Given the description of an element on the screen output the (x, y) to click on. 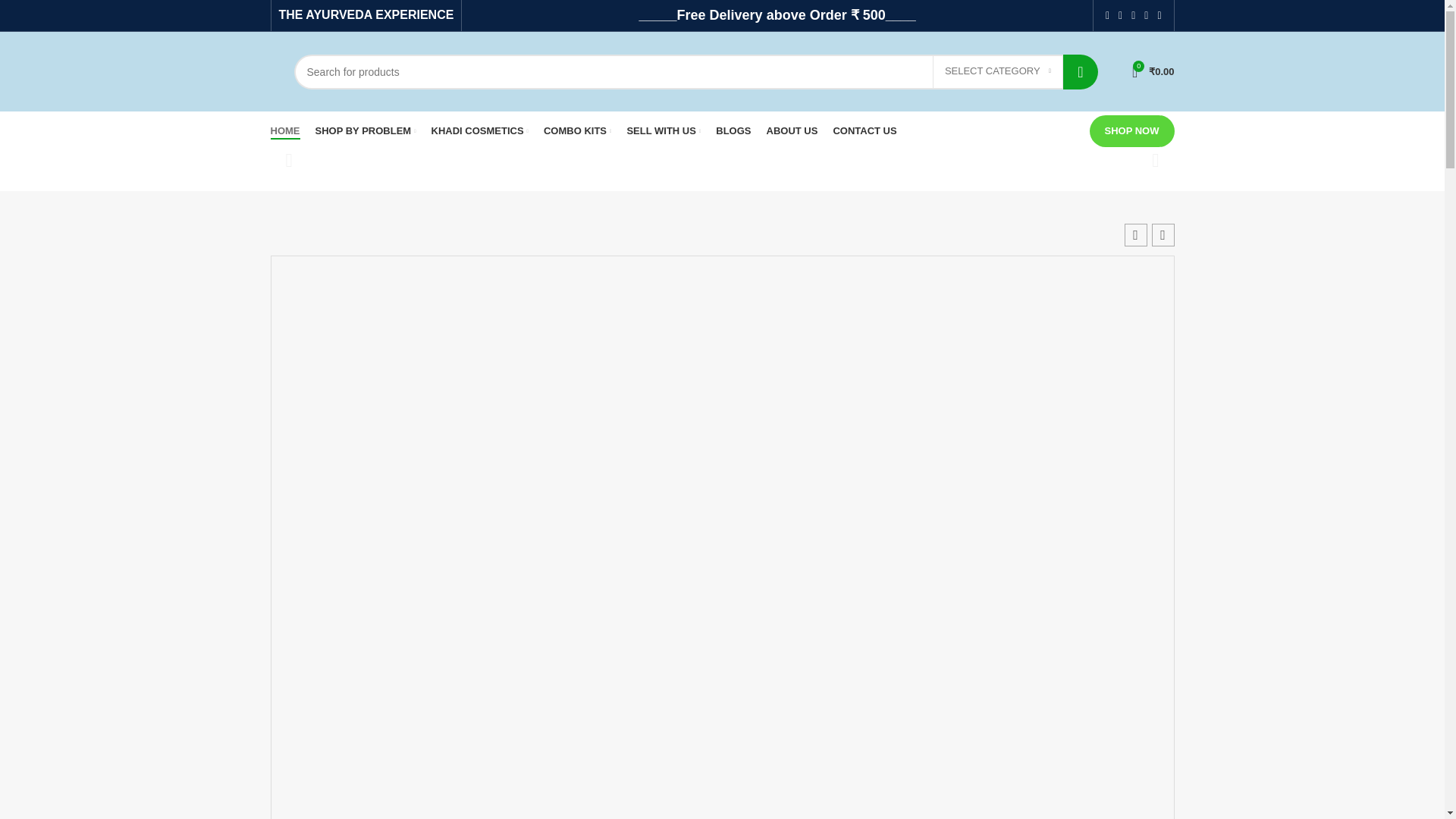
SELECT CATEGORY (997, 71)
SELECT CATEGORY (997, 71)
Search for products (695, 71)
Shopping cart (1153, 71)
HOME (284, 131)
SEARCH (1079, 71)
SHOP BY PROBLEM (365, 131)
